Given the description of an element on the screen output the (x, y) to click on. 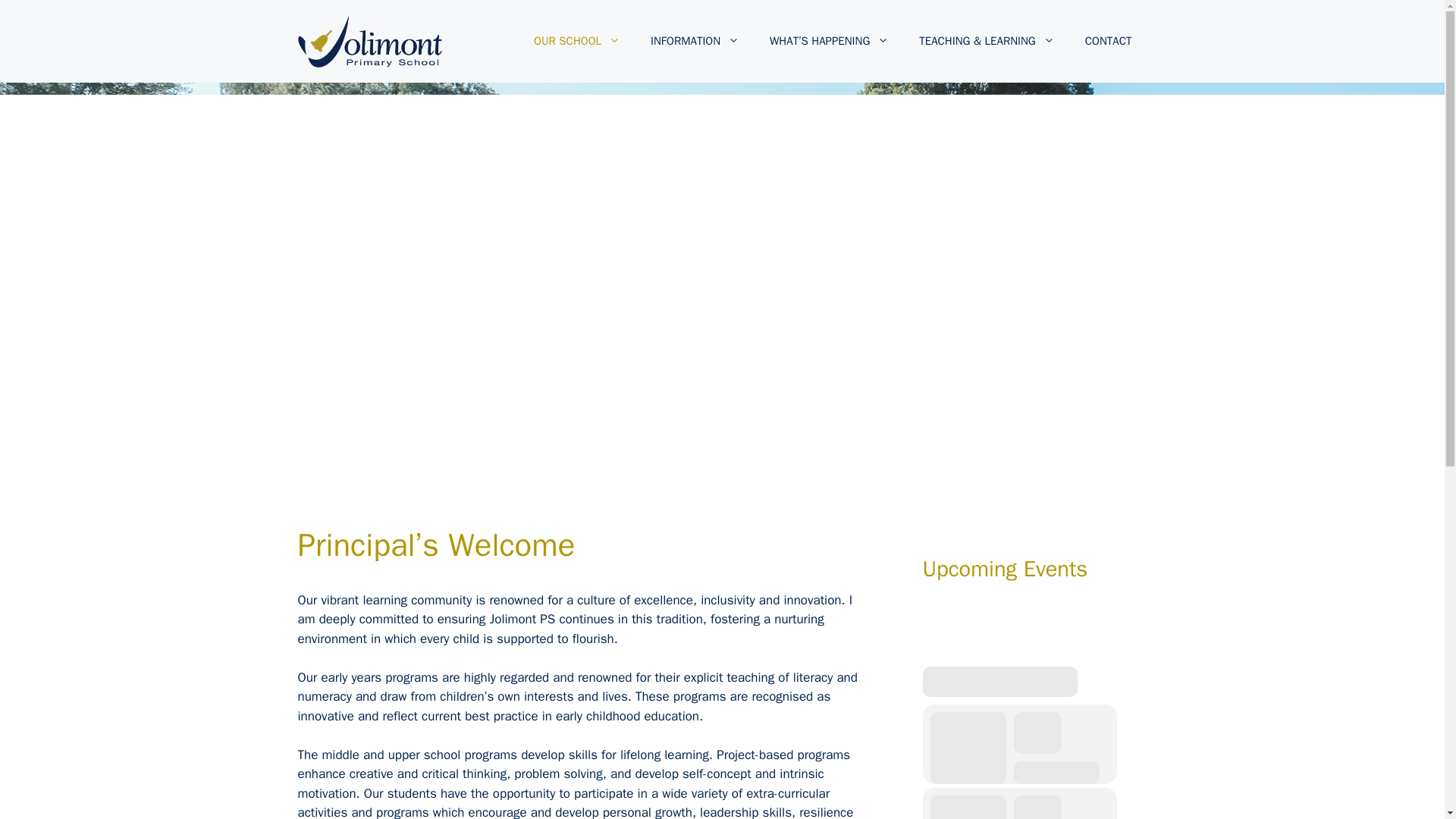
OUR SCHOOL (576, 40)
INFORMATION (694, 40)
CONTACT (1108, 40)
